Given the description of an element on the screen output the (x, y) to click on. 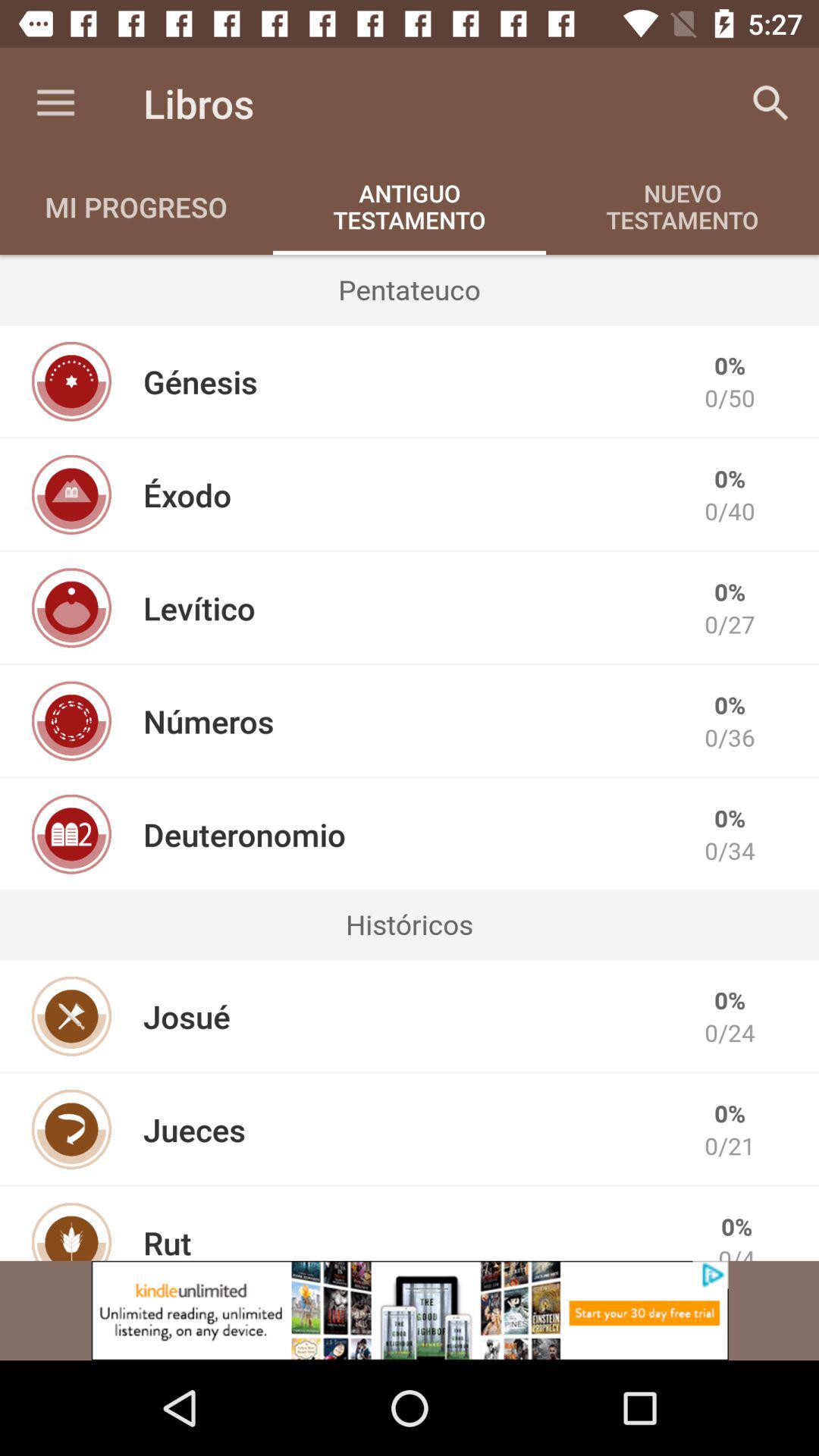
open the deuteronomio (244, 833)
